Given the description of an element on the screen output the (x, y) to click on. 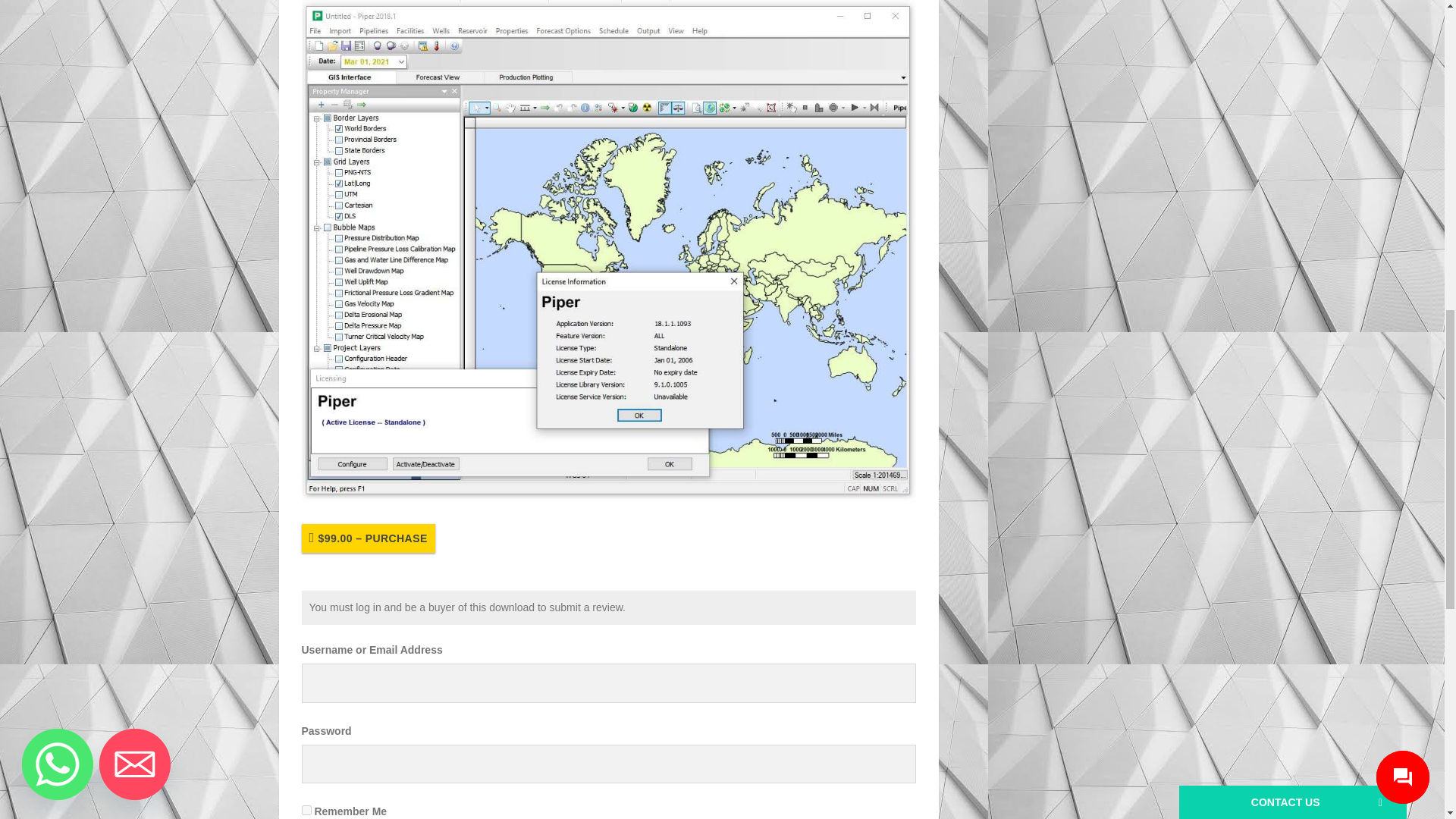
forever (306, 809)
